Given the description of an element on the screen output the (x, y) to click on. 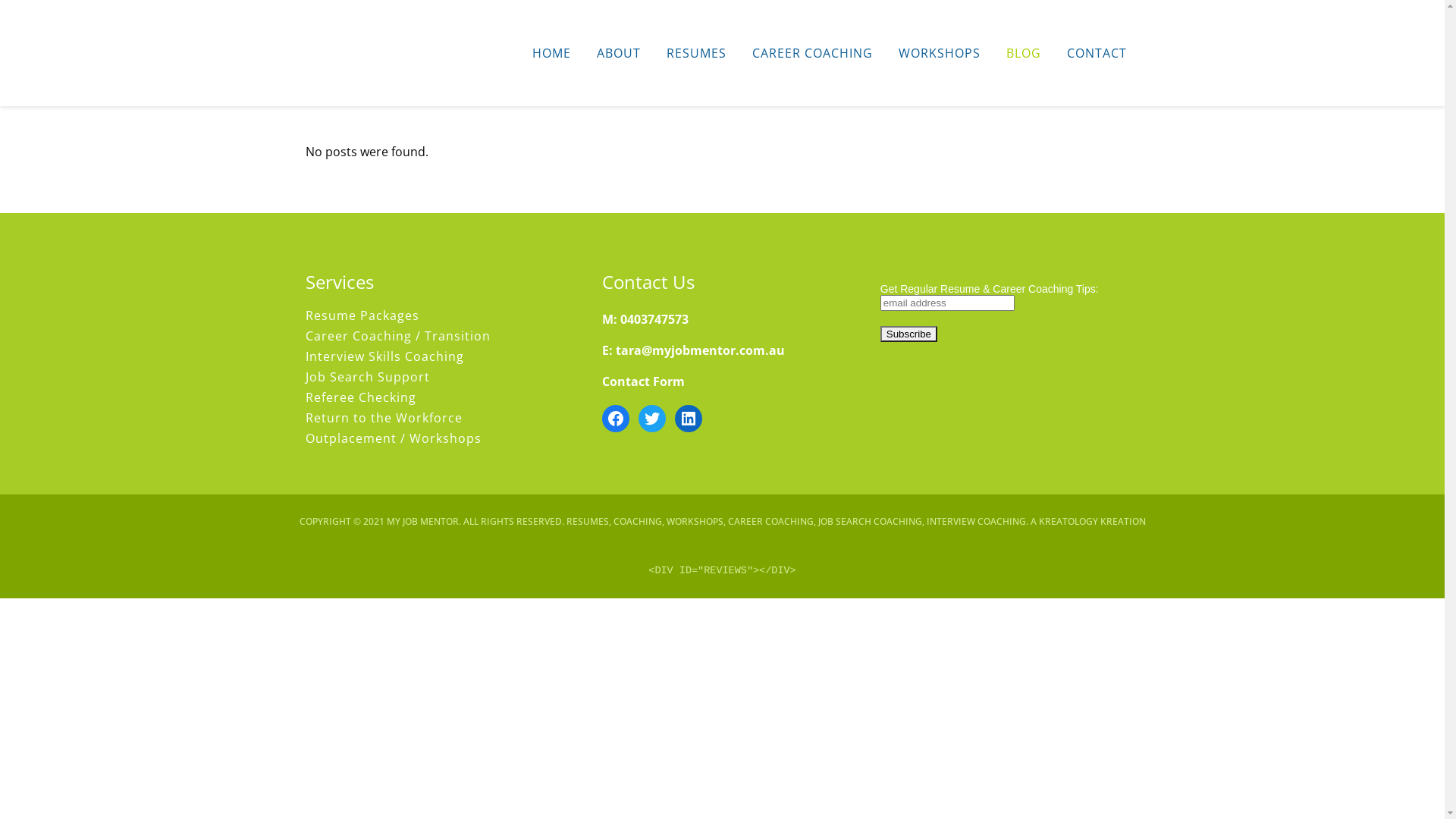
ABOUT Element type: text (618, 53)
Resume Packages Element type: text (437, 315)
HOME Element type: text (550, 53)
Twitter Element type: text (651, 418)
tara@myjobmentor.com.au Element type: text (699, 350)
Subscribe Element type: text (908, 334)
Career Coaching / Transition Element type: text (437, 335)
0403747573 Element type: text (654, 318)
Return to the Workforce Element type: text (437, 417)
Contact Form Element type: text (643, 381)
RESUMES Element type: text (696, 53)
CONTACT Element type: text (1096, 53)
LinkedIn Element type: text (688, 418)
Job Search Support Element type: text (437, 376)
CAREER COACHING Element type: text (811, 53)
Referee Checking Element type: text (437, 397)
BLOG Element type: text (1023, 53)
Facebook Element type: text (615, 418)
WORKSHOPS Element type: text (939, 53)
Outplacement / Workshops Element type: text (437, 438)
KREATOLOGY Element type: text (1068, 520)
Interview Skills Coaching Element type: text (437, 356)
